Given the description of an element on the screen output the (x, y) to click on. 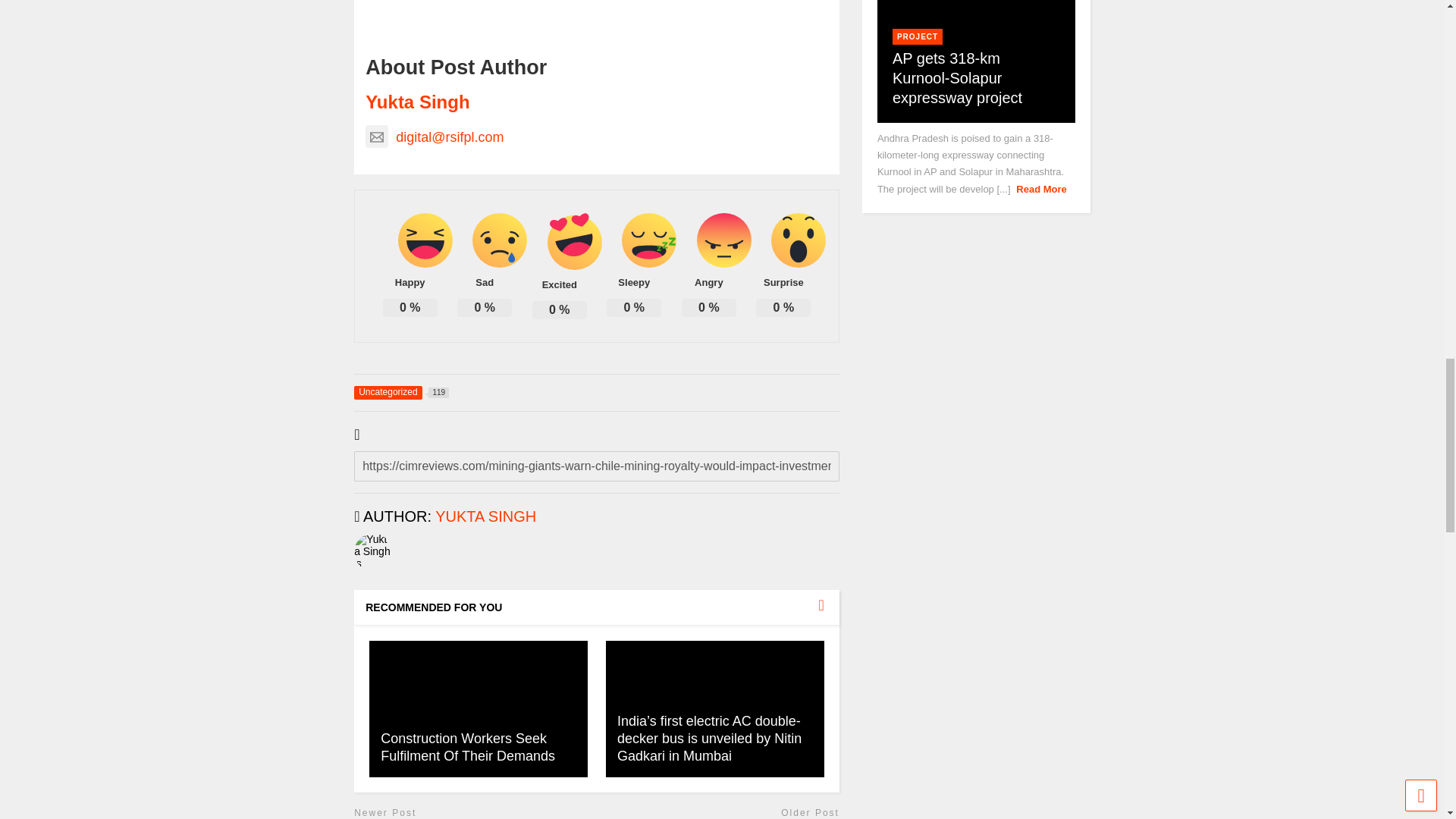
author profile (485, 515)
Click to read (478, 708)
Click to read (714, 708)
